Given the description of an element on the screen output the (x, y) to click on. 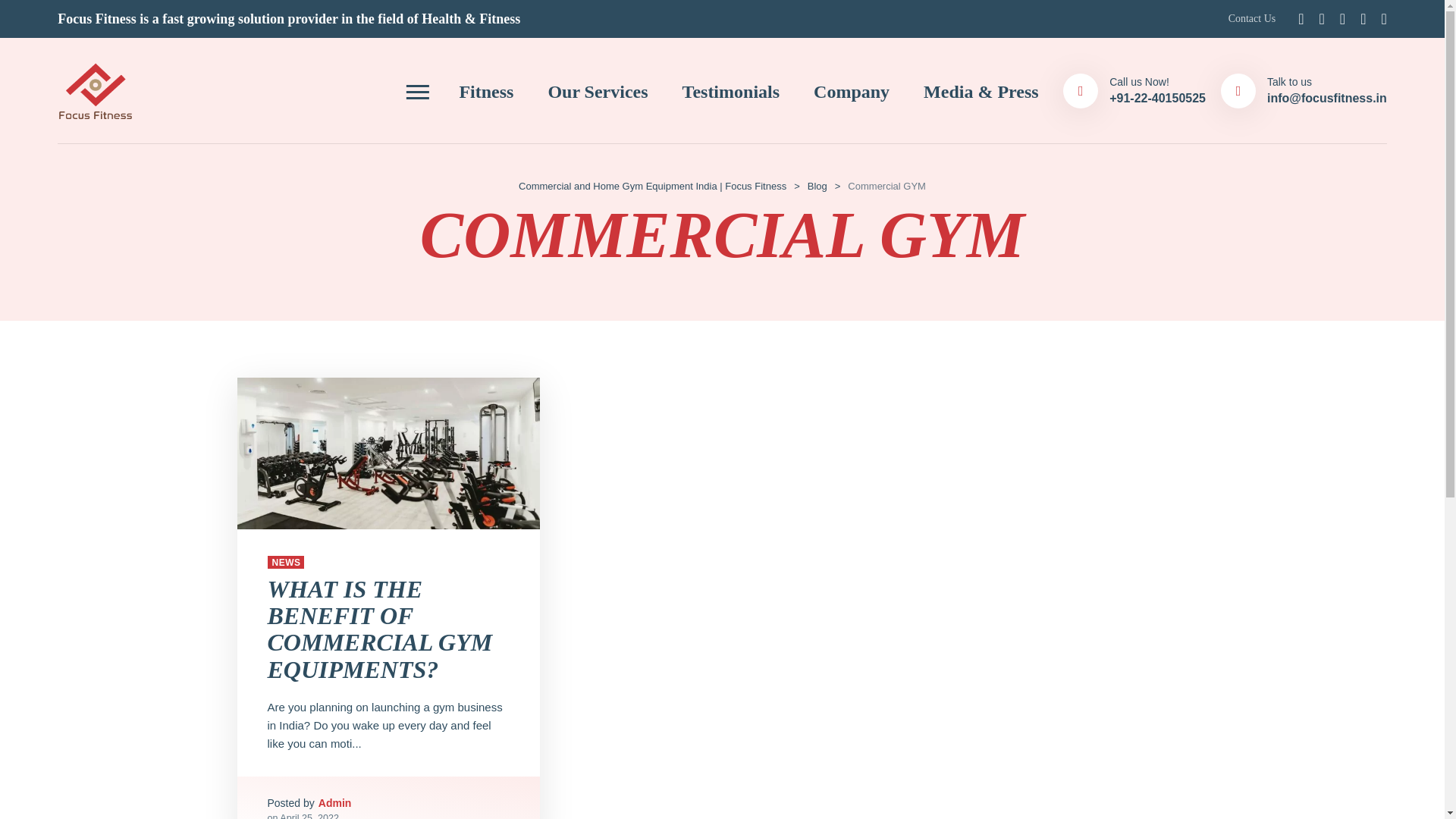
Contact Us (1252, 18)
Go to Blog. (817, 185)
Company (851, 90)
Testimonials (730, 90)
Posts by Admin (335, 802)
Our Services (597, 90)
Equipment-management (387, 453)
Fitness (485, 90)
